Given the description of an element on the screen output the (x, y) to click on. 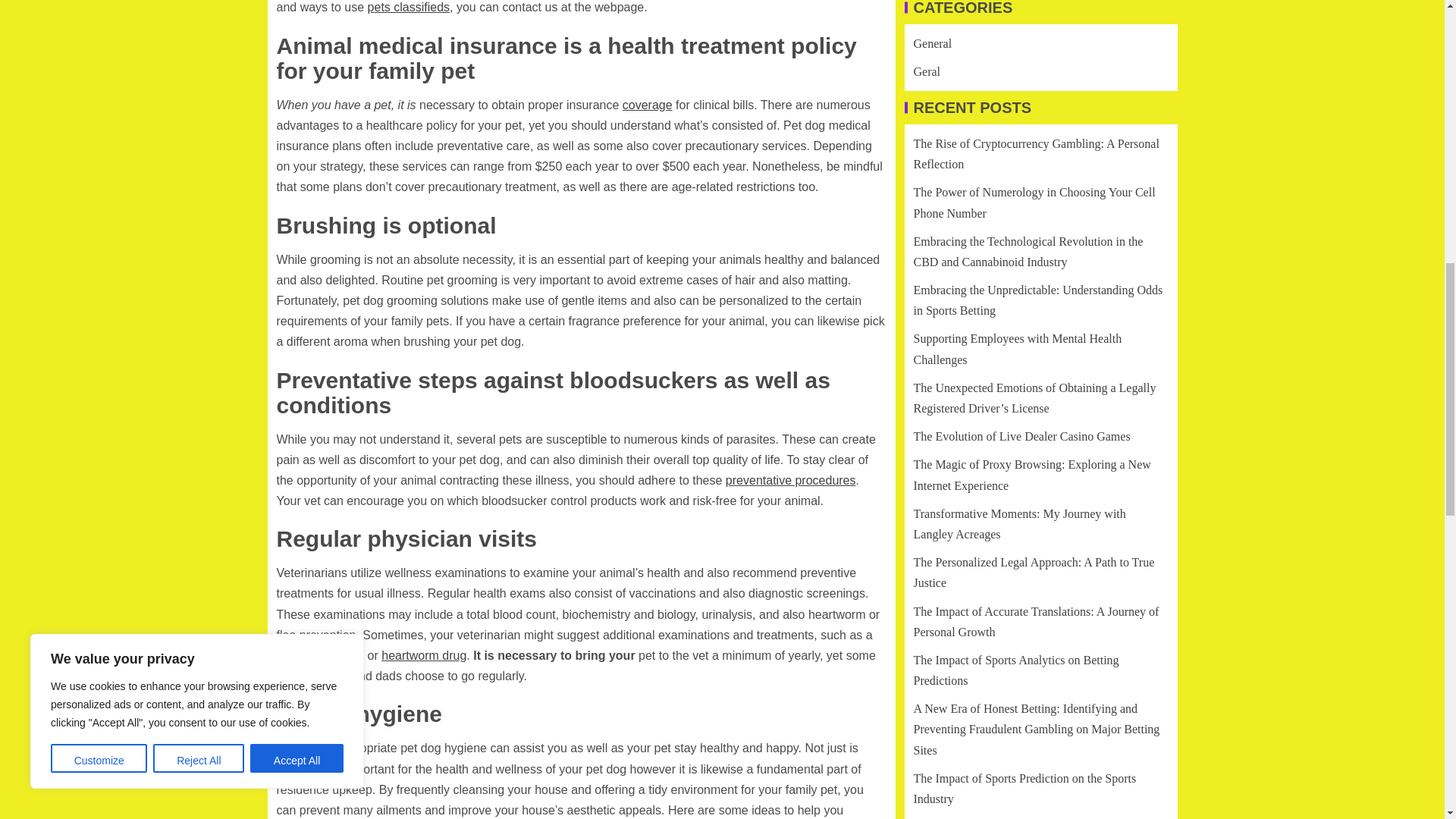
pets classifieds (408, 6)
preventative procedures (790, 480)
coverage (647, 104)
heartworm drug (423, 655)
